Given the description of an element on the screen output the (x, y) to click on. 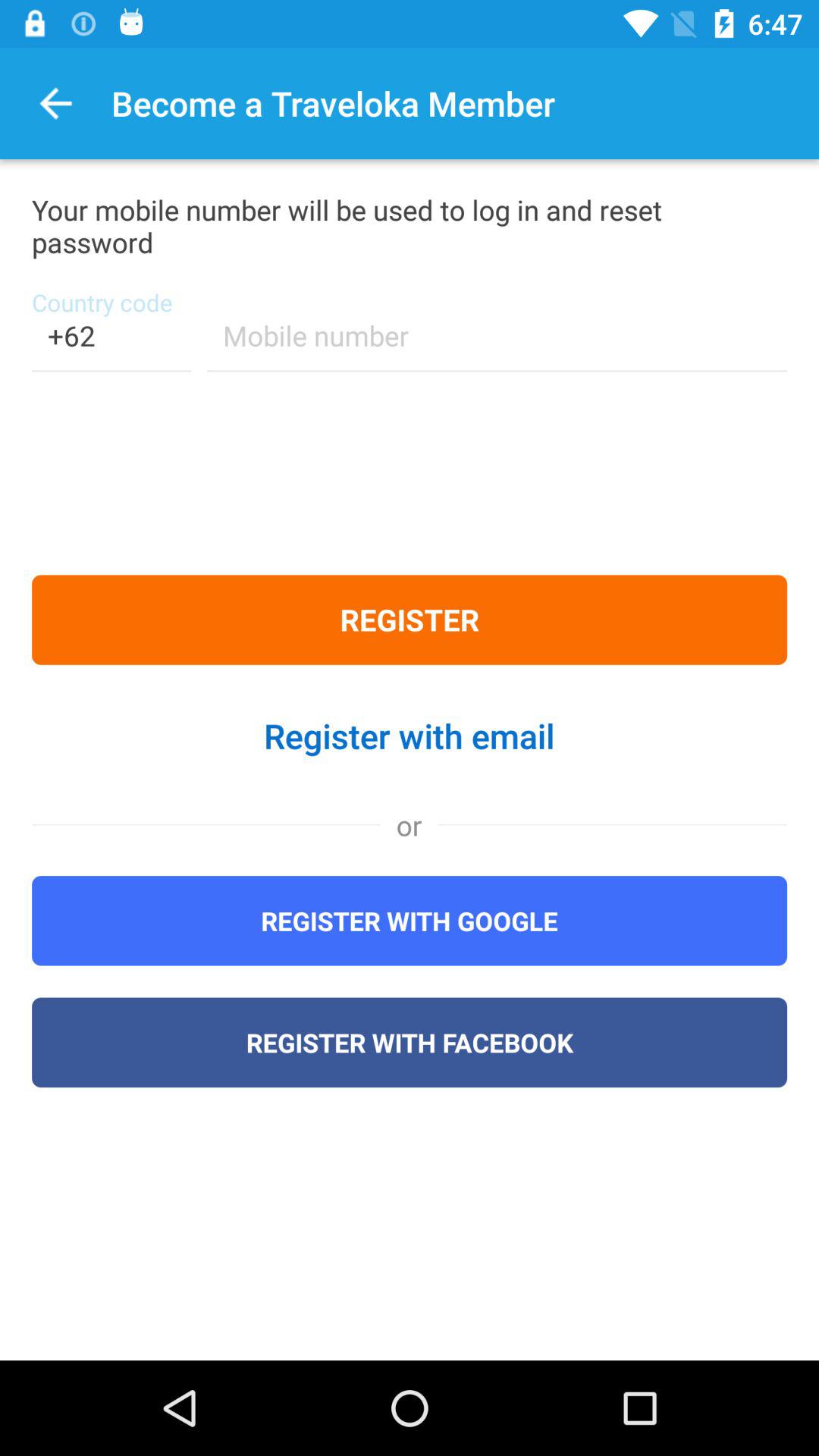
click the item to the left of become a traveloka icon (55, 103)
